Given the description of an element on the screen output the (x, y) to click on. 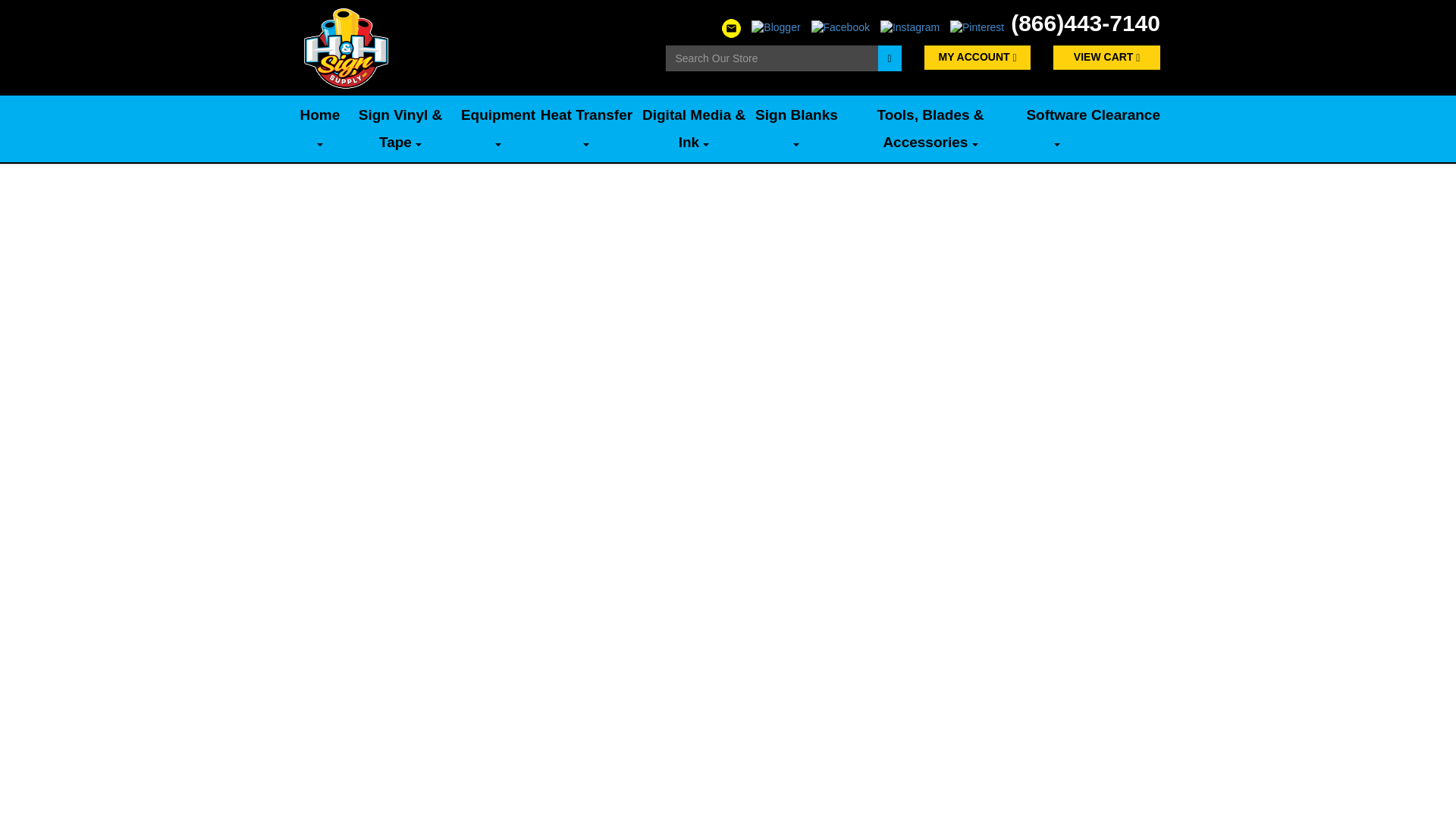
Follow us on Instagram! (909, 27)
MY ACCOUNT (977, 57)
Visit our Blog! (775, 27)
Contact Us (731, 27)
Visit our Pintrest page! (977, 27)
Like us on Facebook! (839, 27)
VIEW CART (1106, 57)
